Given the description of an element on the screen output the (x, y) to click on. 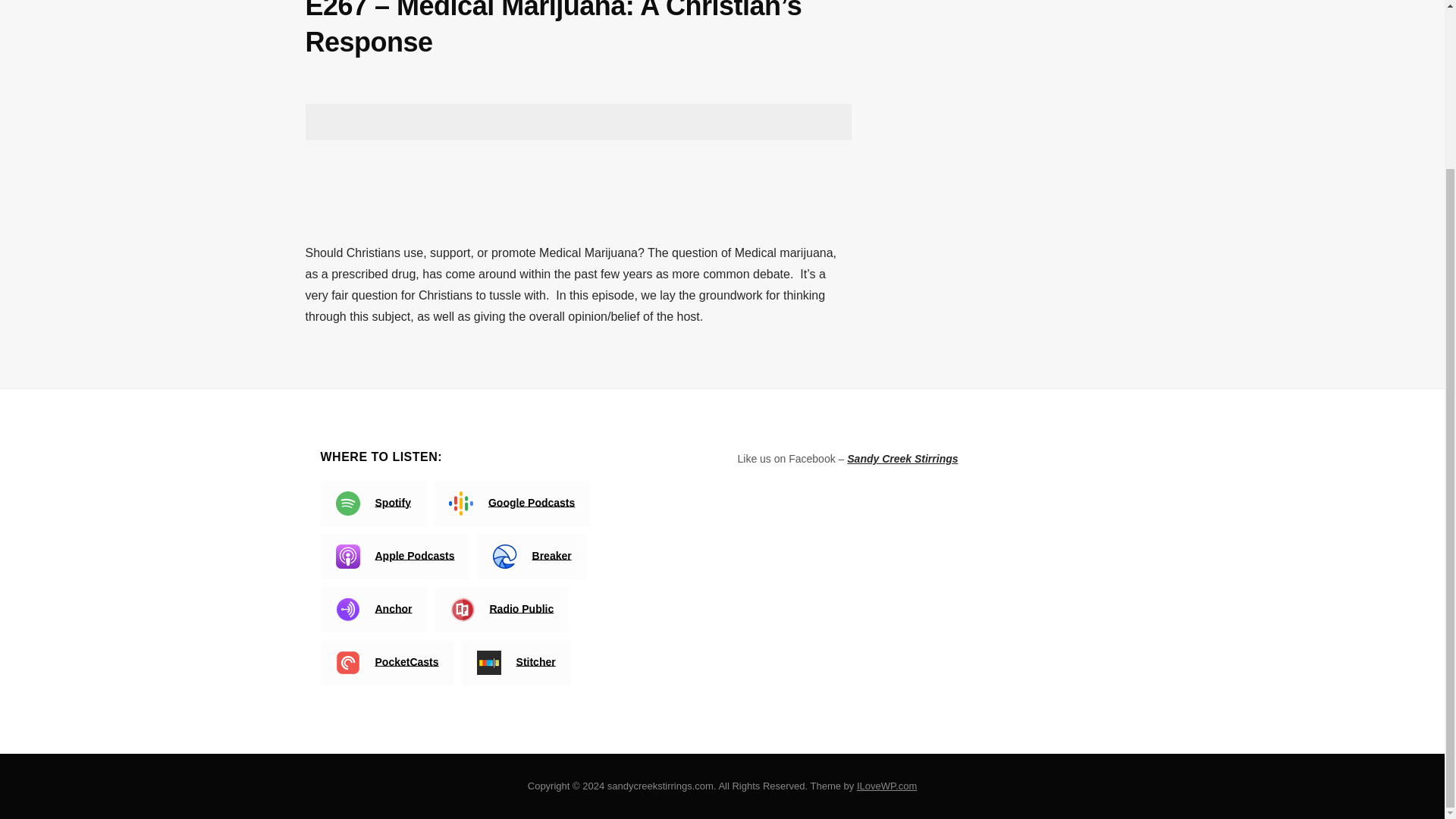
Spotify (372, 503)
Stitcher (515, 662)
Podcast WordPress Themes (887, 785)
Apple Podcasts (394, 556)
Anchor (373, 609)
Google Podcasts (511, 503)
Sandy Creek Stirrings (902, 458)
Radio Public (502, 609)
ILoveWP.com (887, 785)
PocketCasts (386, 662)
